Given the description of an element on the screen output the (x, y) to click on. 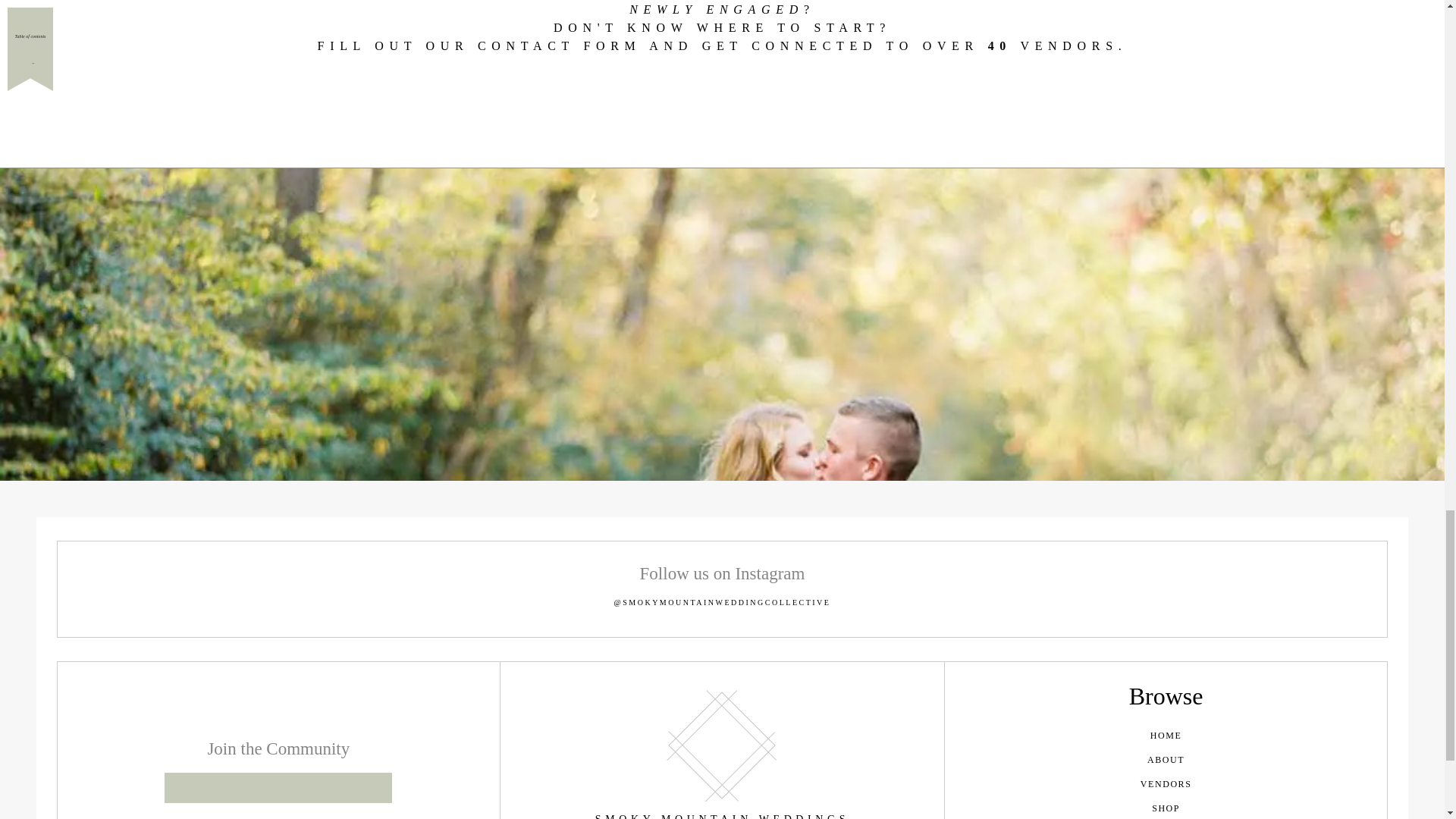
Contact Us (722, 96)
SHOP (1165, 807)
Follow us on Instagram (722, 573)
VENDORS (1165, 784)
ABOUT (1165, 759)
HOME (1165, 735)
BECOME A MEMBER (277, 788)
